Given the description of an element on the screen output the (x, y) to click on. 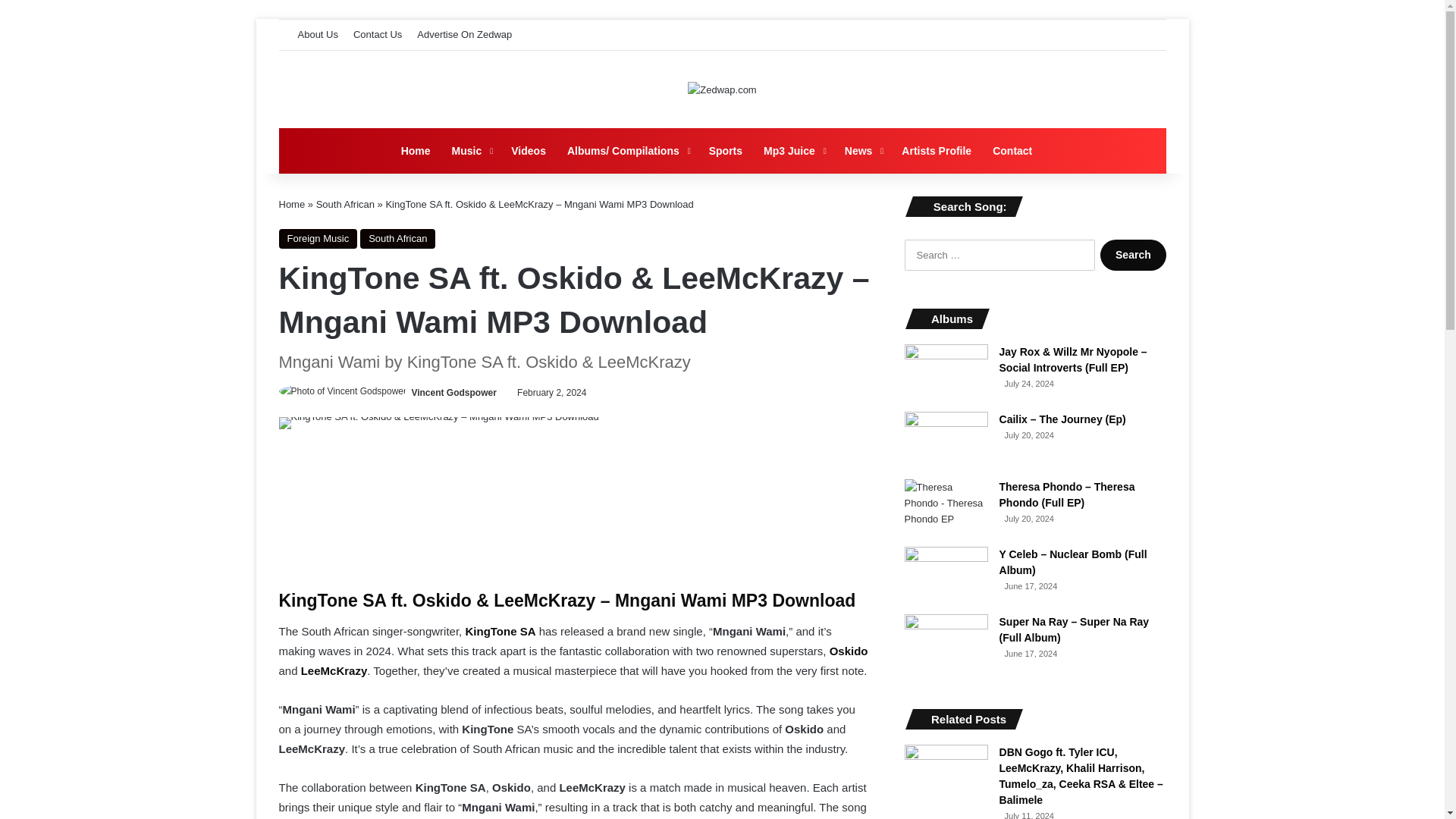
Vincent Godspower (453, 392)
South African (344, 204)
Home (292, 204)
Sports (725, 150)
About Us (317, 34)
Vincent Godspower (453, 392)
Contact (1011, 150)
Mp3 Juice (793, 150)
Videos (528, 150)
Oskido (848, 650)
News (862, 150)
Zedwap.com (721, 89)
South African (397, 238)
Search (1133, 255)
Contact Us (377, 34)
